Given the description of an element on the screen output the (x, y) to click on. 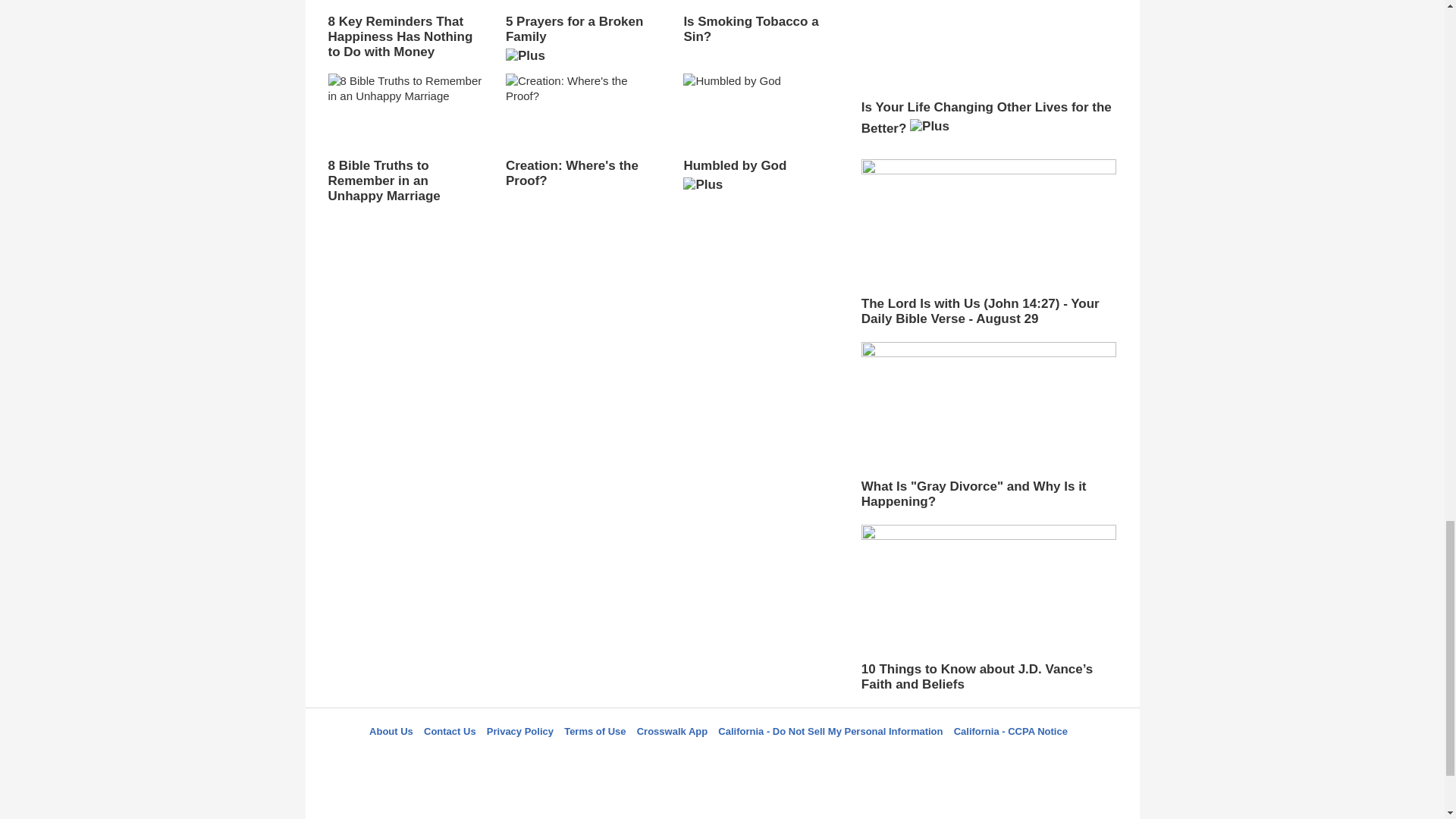
Twitter (683, 758)
Facebook (645, 758)
LifeAudio (719, 758)
YouTube (795, 758)
Creation: Where's the Proof? (583, 131)
Humbled by God (760, 137)
Pinterest (757, 758)
5 Prayers for a Broken Family (583, 36)
8 Bible Truths to Remember in an Unhappy Marriage (404, 138)
8 Key Reminders That Happiness Has Nothing to Do with Money (404, 29)
